Given the description of an element on the screen output the (x, y) to click on. 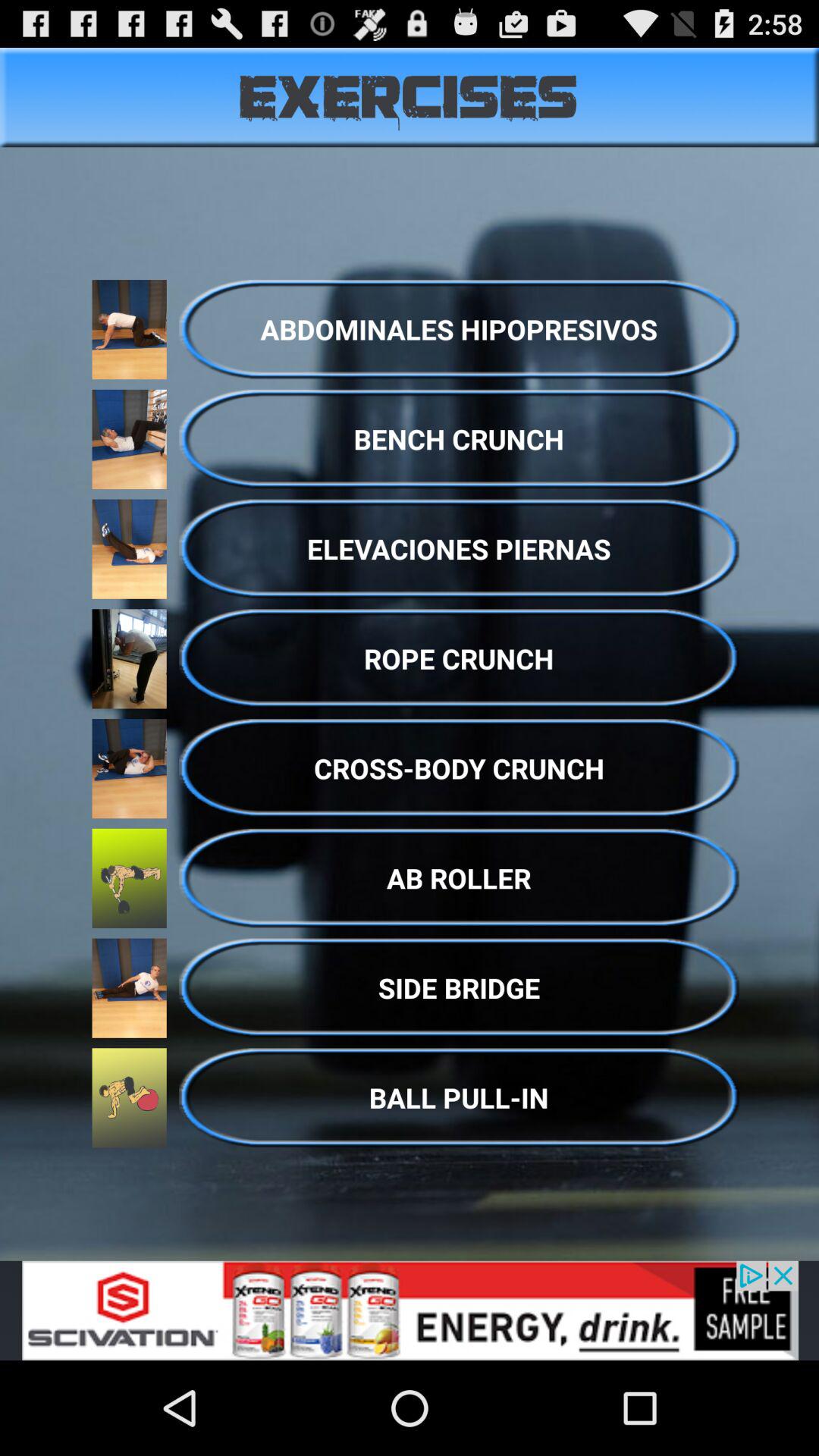
advertisement banner (409, 1310)
